Given the description of an element on the screen output the (x, y) to click on. 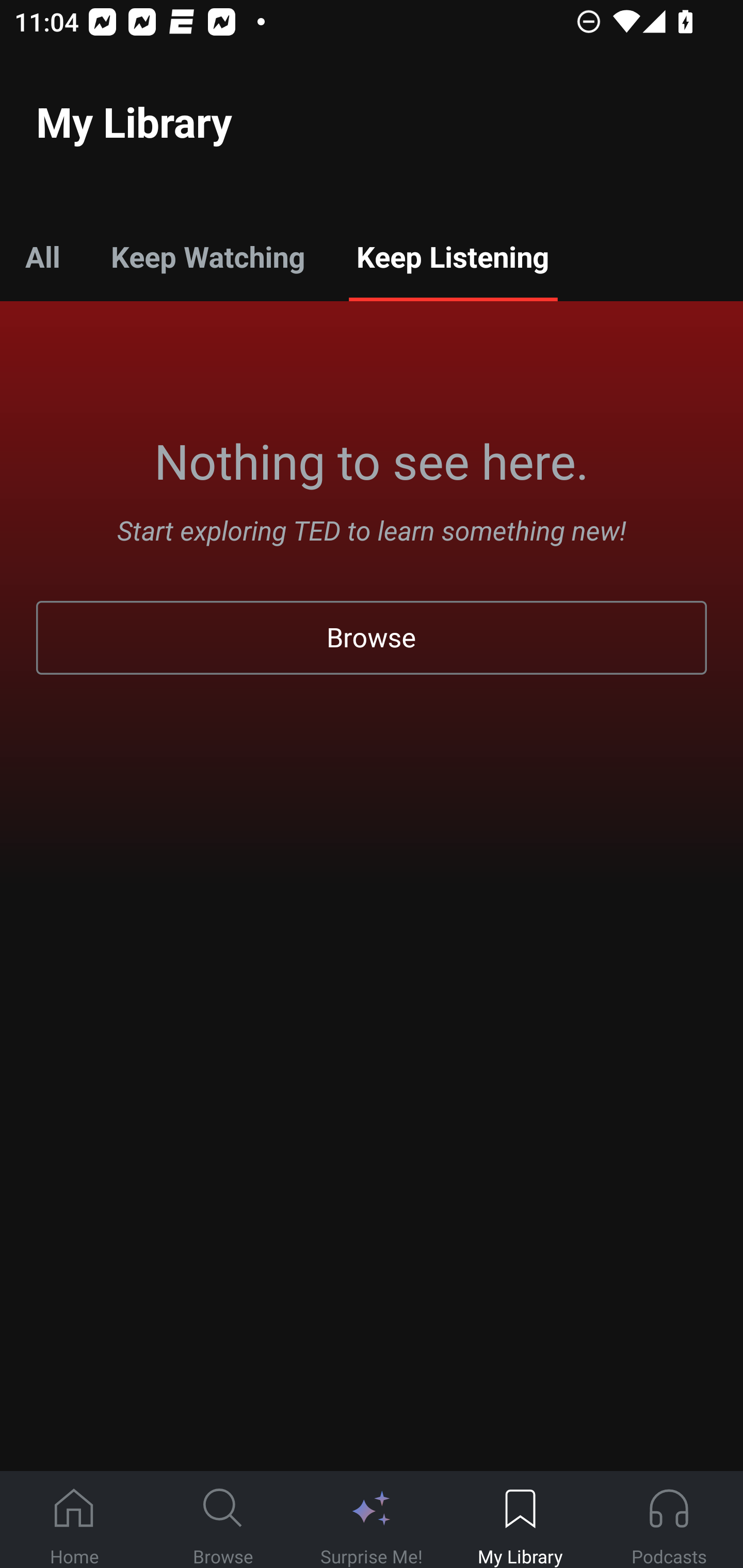
All (42, 256)
Keep Watching (207, 256)
Keep Listening (452, 256)
Browse (371, 637)
Home (74, 1520)
Browse (222, 1520)
Surprise Me! (371, 1520)
My Library (519, 1520)
Podcasts (668, 1520)
